Given the description of an element on the screen output the (x, y) to click on. 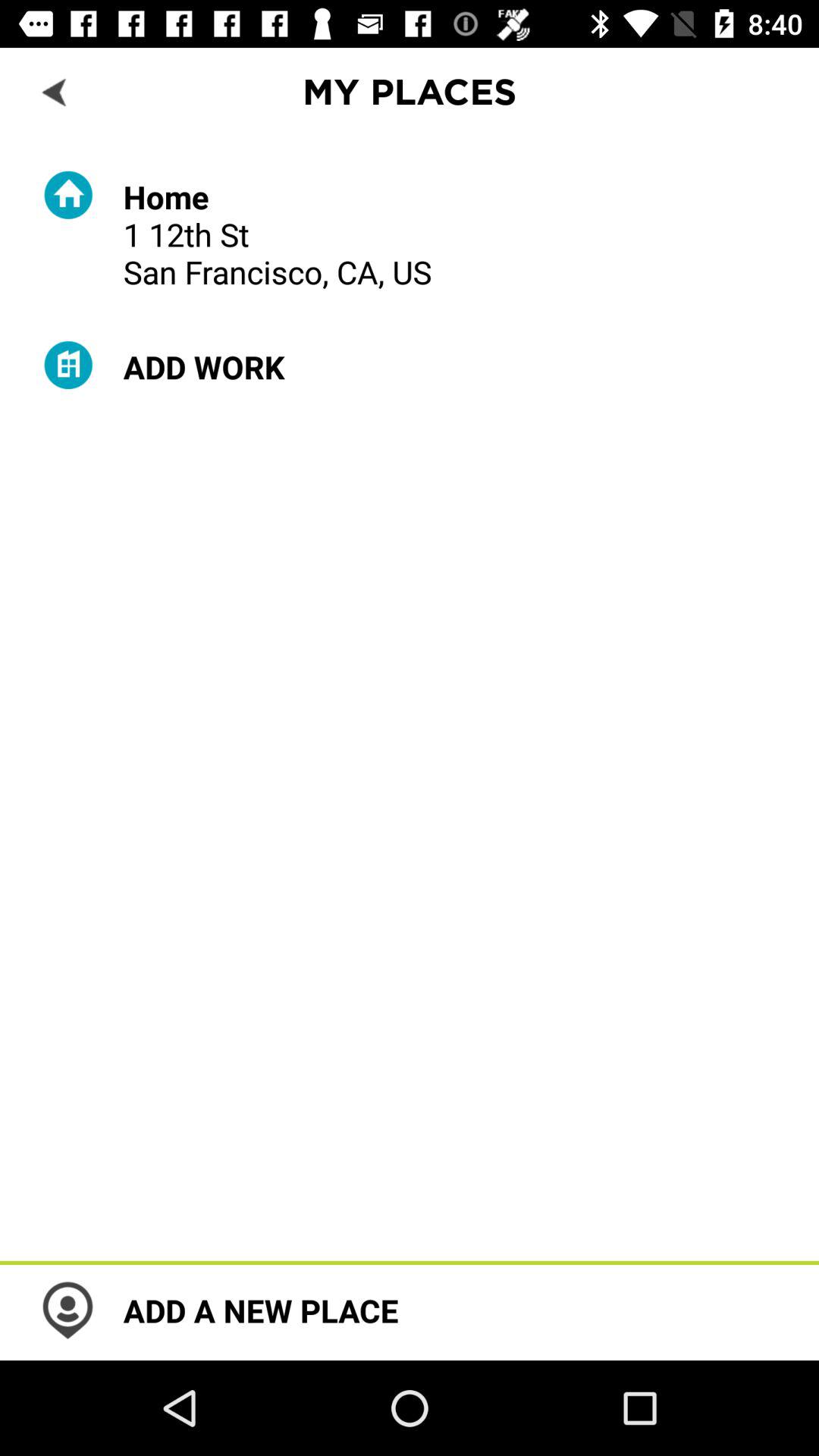
click the item below the home 1 12th icon (203, 366)
